Given the description of an element on the screen output the (x, y) to click on. 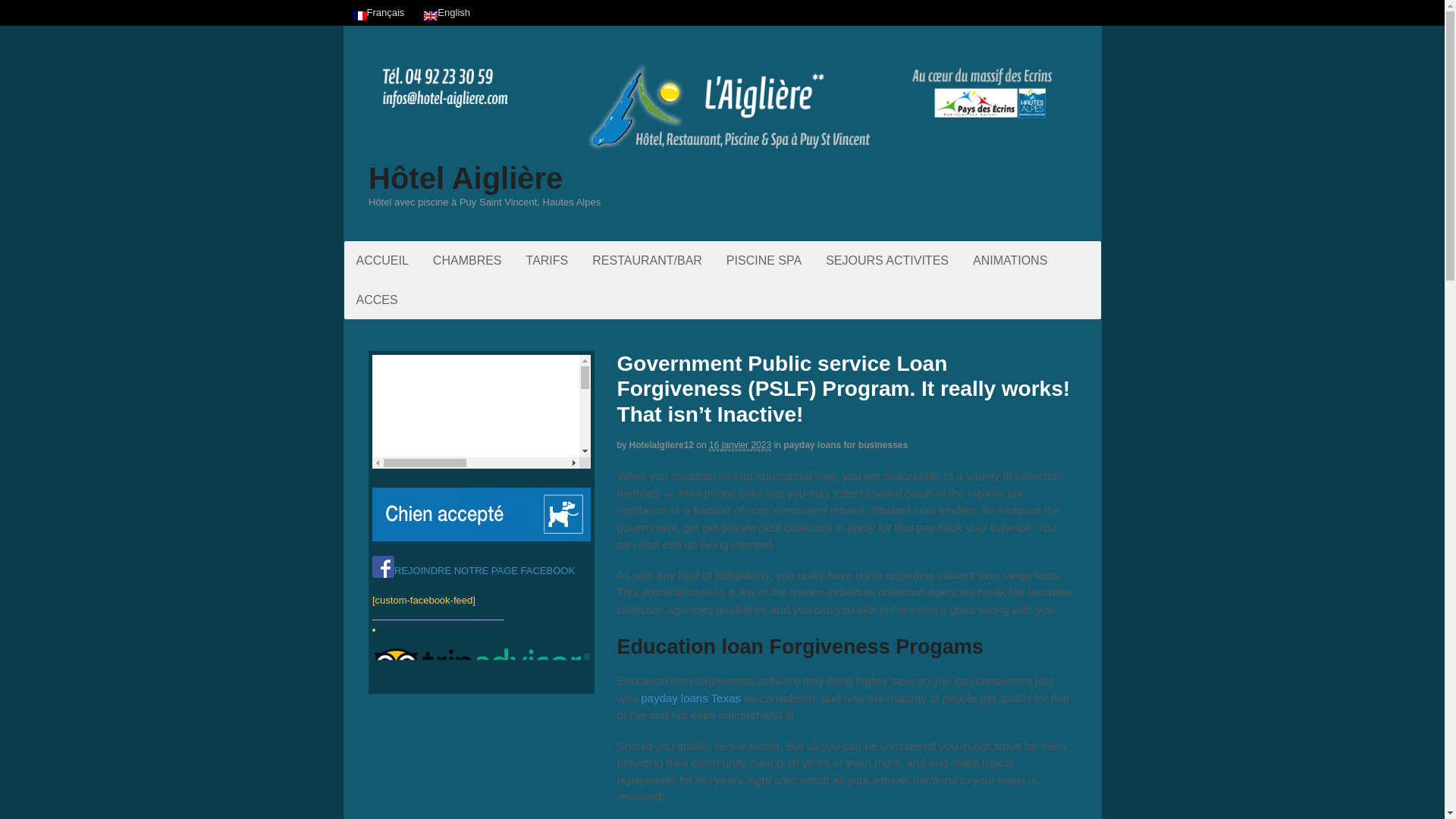
payday loans for businesses (845, 444)
English (446, 12)
TARIFS (546, 260)
View all items in payday loans for businesses (845, 444)
English (446, 12)
CHAMBRES (466, 260)
SEJOURS ACTIVITES (886, 260)
payday loans Texas (689, 697)
ACCES (376, 299)
Hotelaigliere12 (661, 444)
